Given the description of an element on the screen output the (x, y) to click on. 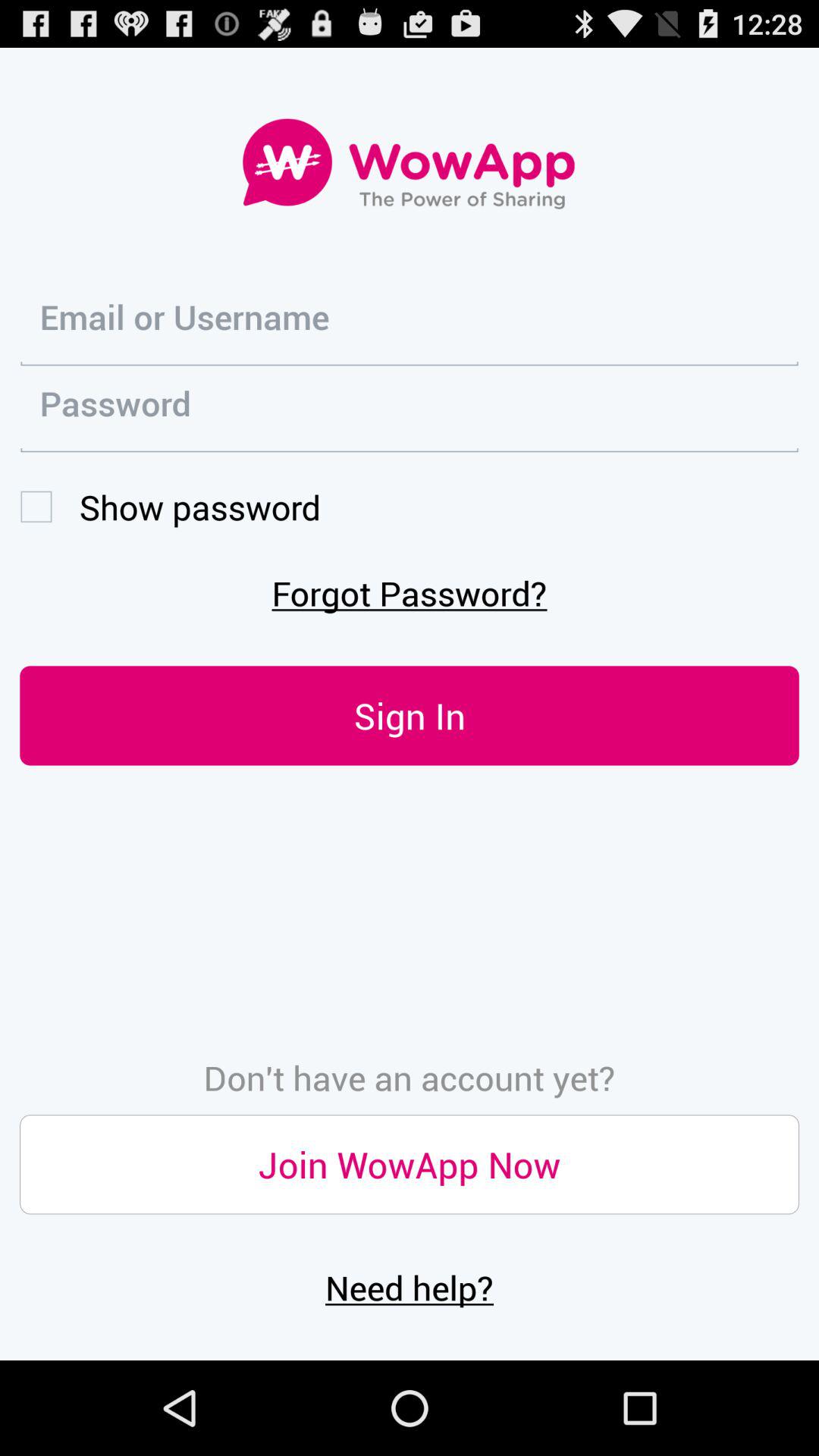
open show password icon (169, 507)
